Given the description of an element on the screen output the (x, y) to click on. 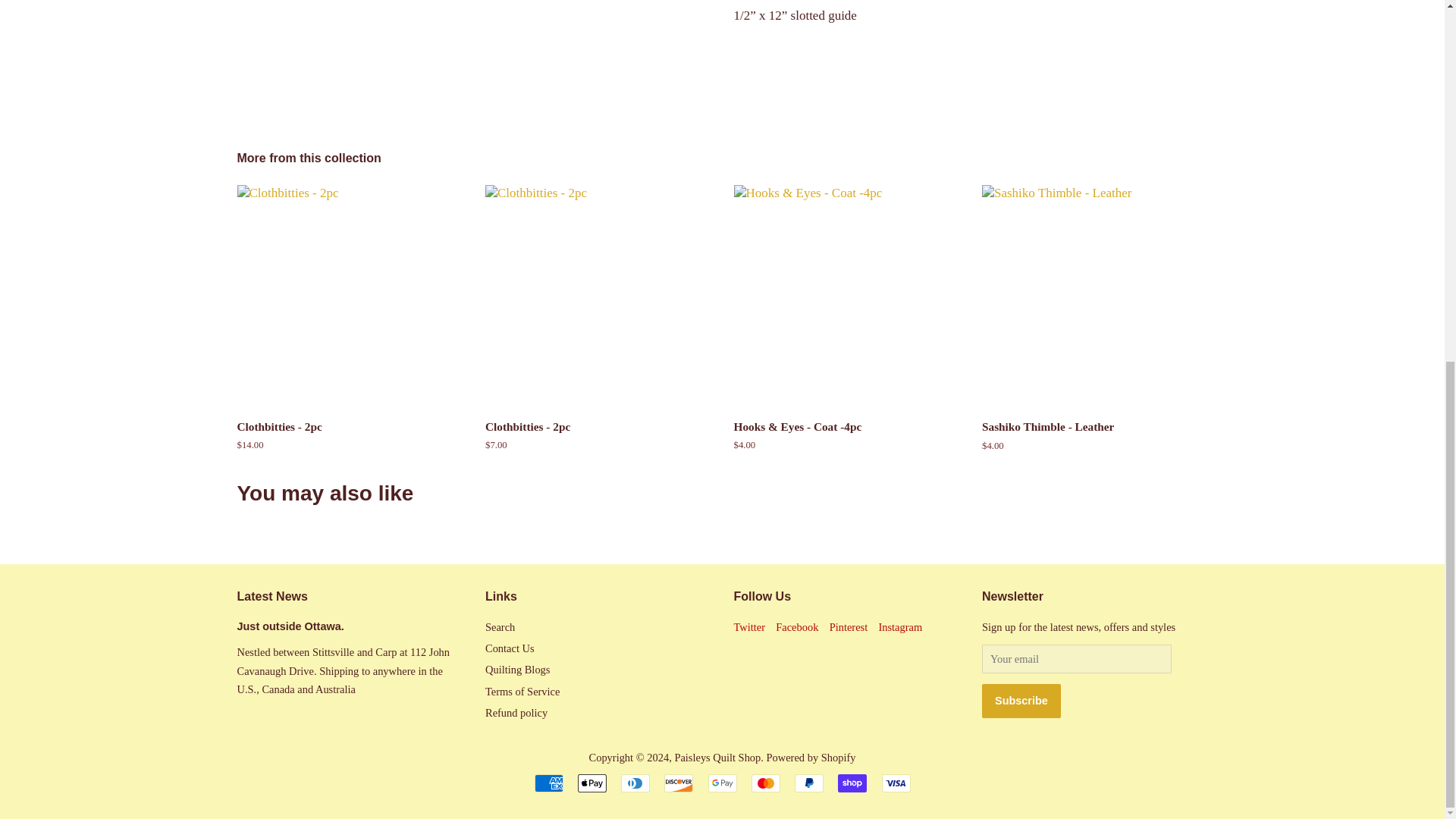
Paisleys Quilt Shop on Twitter (749, 626)
Paisleys Quilt Shop on Pinterest (848, 626)
Mastercard (765, 782)
Subscribe (1021, 700)
Visa (895, 782)
Shop Pay (852, 782)
Google Pay (721, 782)
Paisleys Quilt Shop on Facebook (797, 626)
Apple Pay (592, 782)
Paisleys Quilt Shop on Instagram (899, 626)
Diners Club (635, 782)
American Express (548, 782)
PayPal (809, 782)
Discover (678, 782)
